Given the description of an element on the screen output the (x, y) to click on. 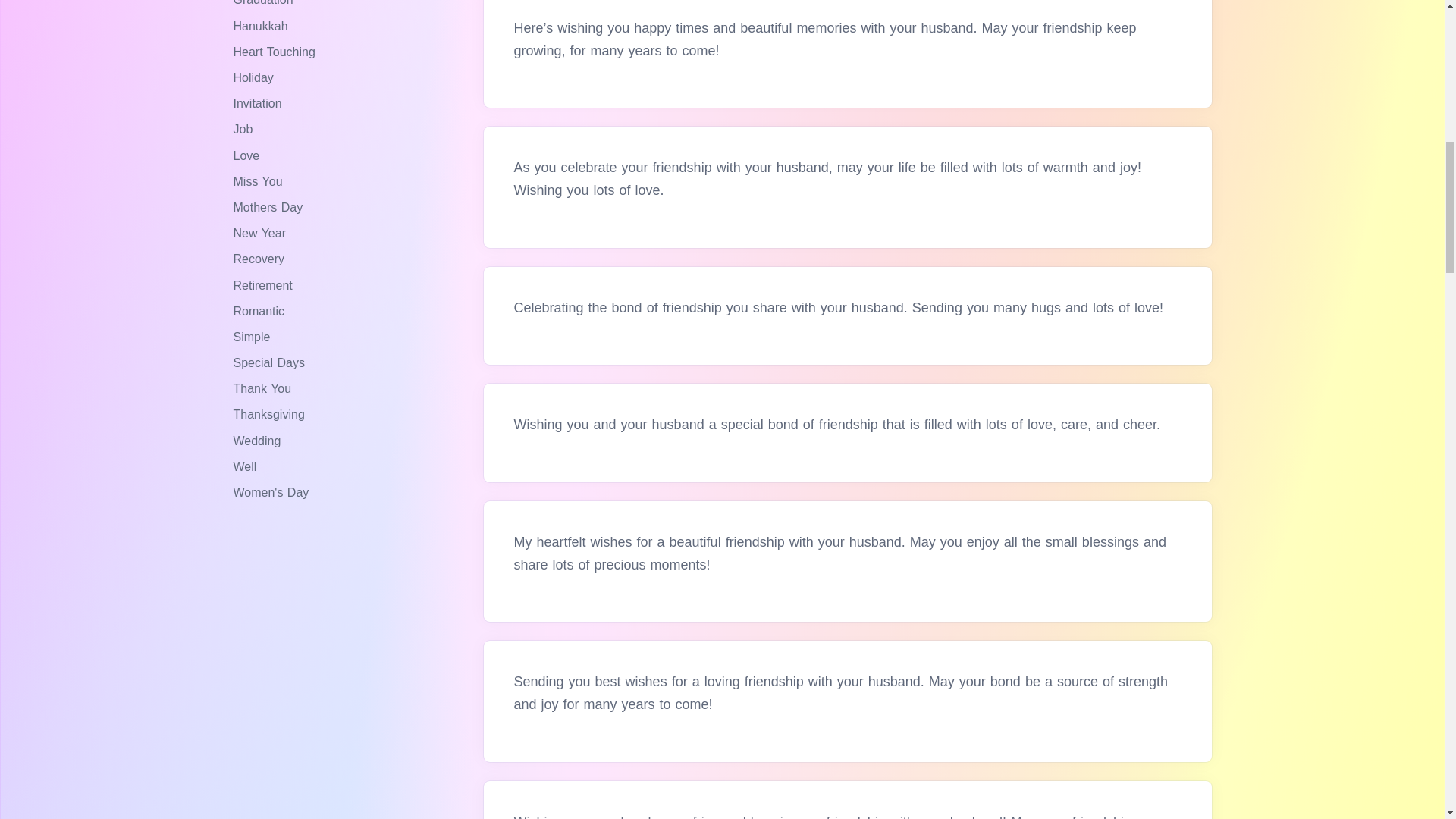
Romantic (260, 310)
Retirement (264, 285)
Miss You (259, 181)
Invitation (258, 103)
Graduation (264, 2)
Heart Touching (275, 51)
New Year (260, 232)
Holiday (255, 77)
Love (247, 155)
Mothers Day (269, 206)
